Given the description of an element on the screen output the (x, y) to click on. 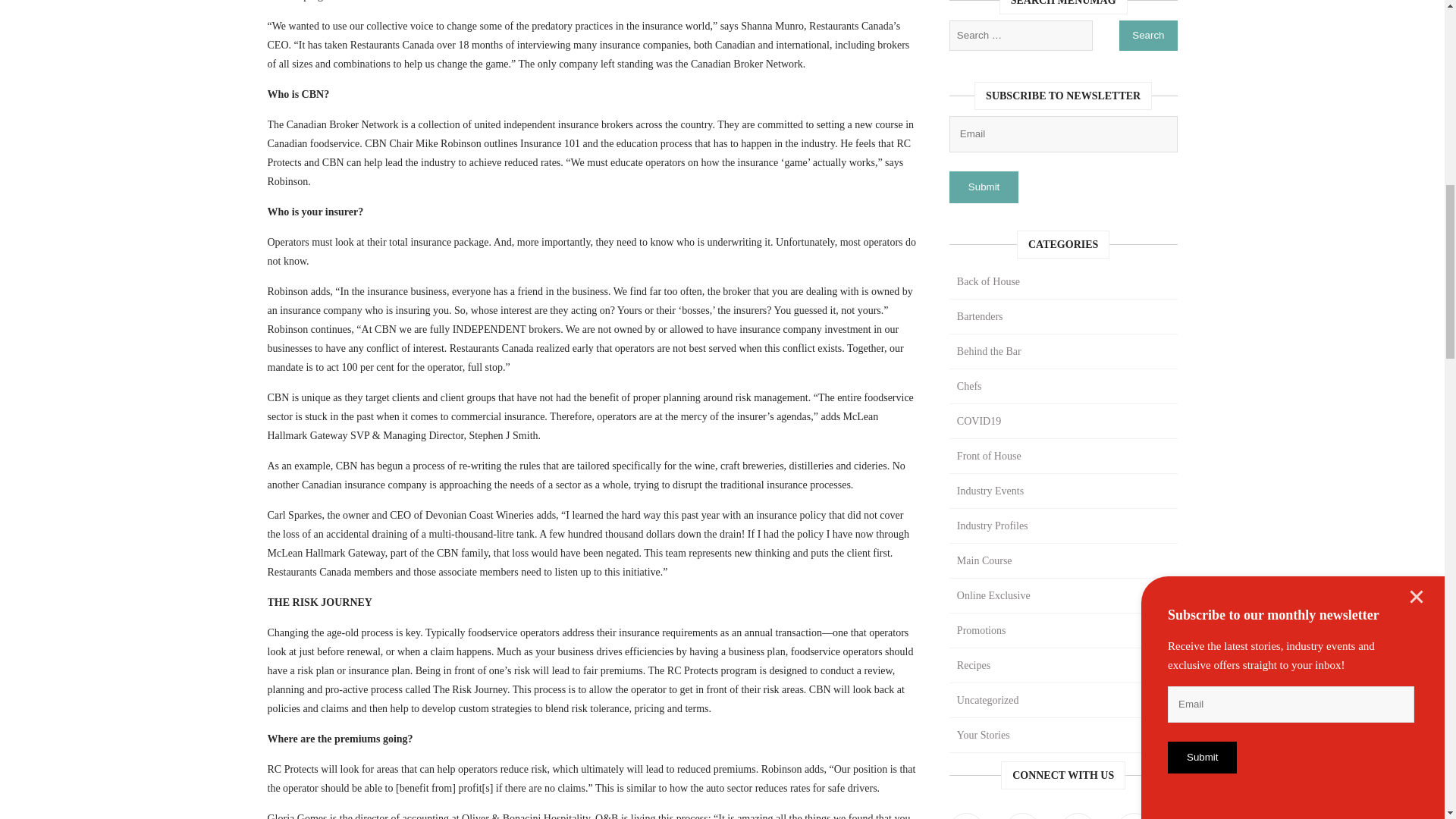
Twitter (1022, 816)
Facebook (966, 816)
linkedin (1077, 816)
Submit (983, 187)
youtube (1133, 816)
Search (1147, 35)
Search (1147, 35)
Search (1147, 35)
Submit (983, 187)
Back of House (1063, 281)
